Given the description of an element on the screen output the (x, y) to click on. 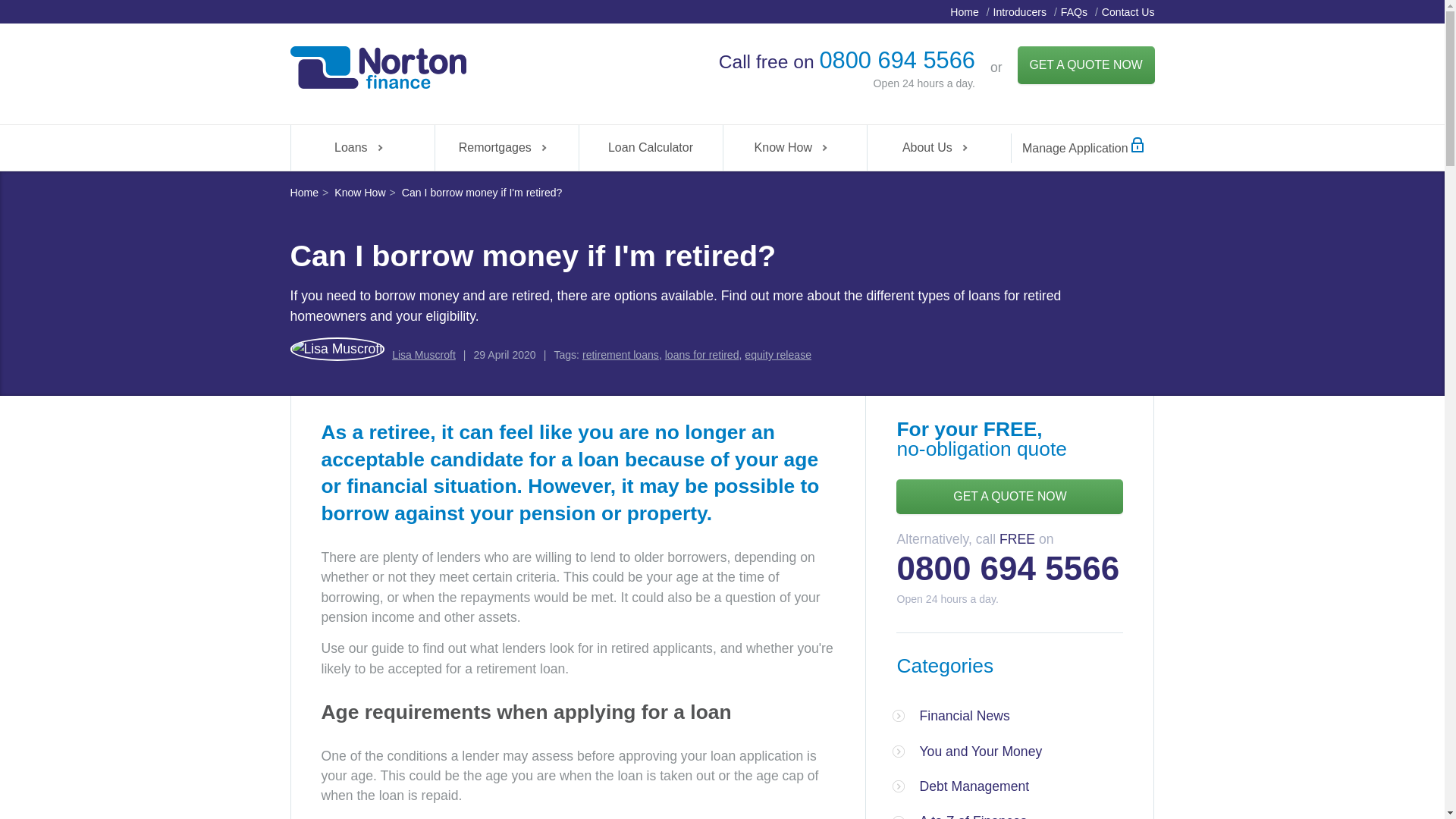
Get a Quote Now (1085, 64)
Loans (362, 147)
Loans (362, 147)
FAQs (1074, 11)
Introducers (1019, 11)
Contact Us (1128, 11)
Home (964, 11)
